Given the description of an element on the screen output the (x, y) to click on. 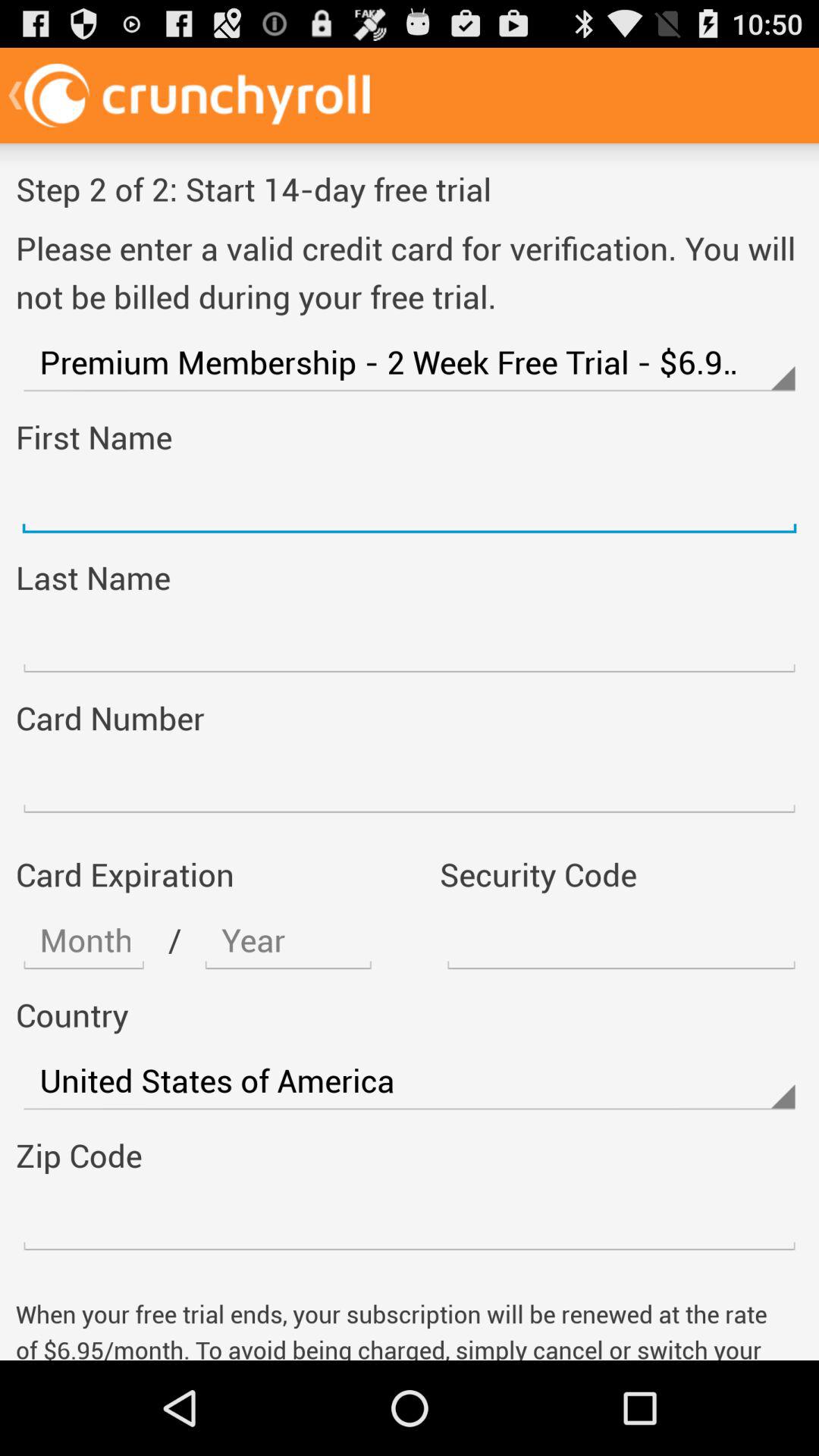
screen page (83, 940)
